Given the description of an element on the screen output the (x, y) to click on. 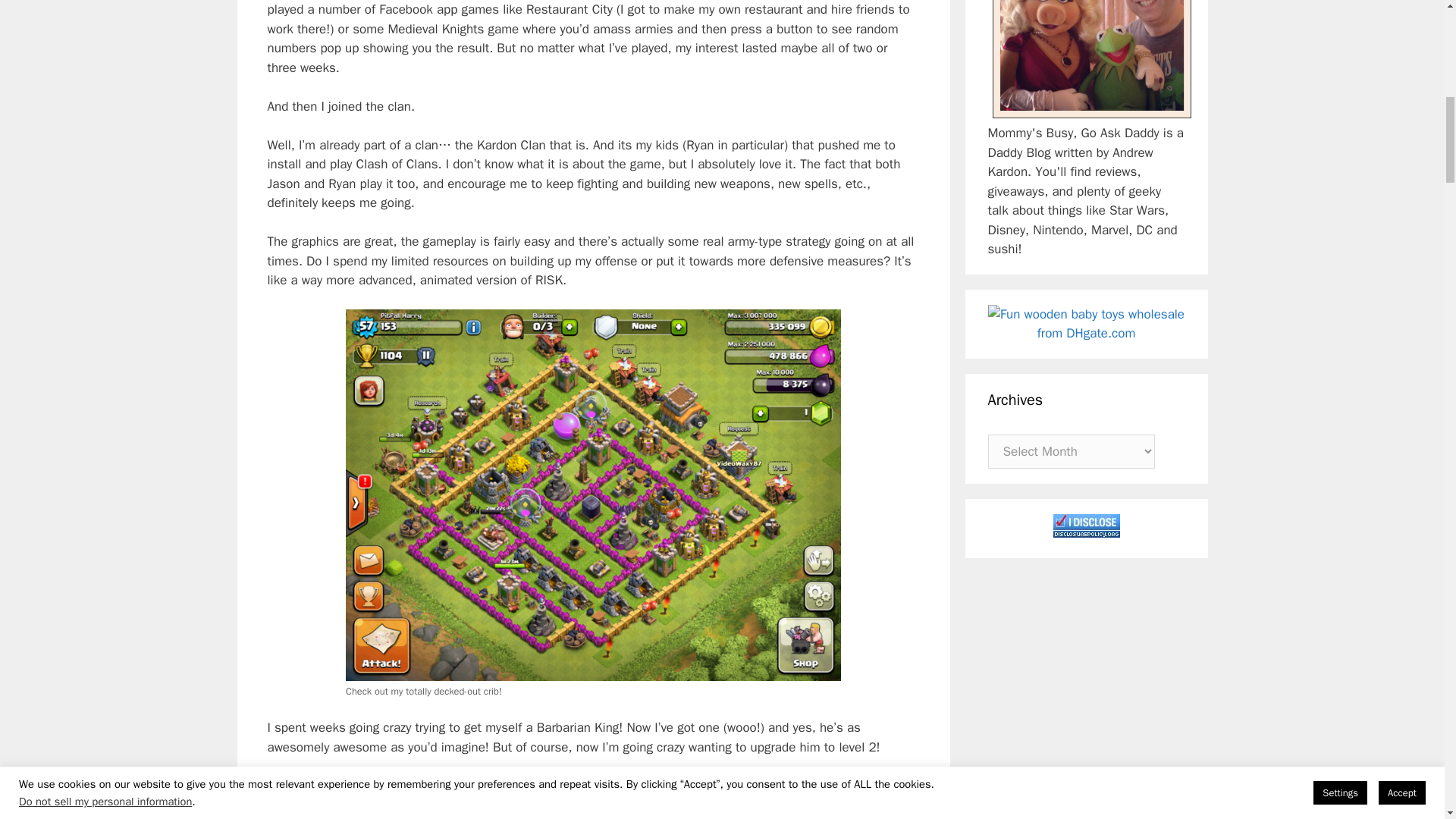
Fun wooden baby toys wholesale from DHgate.com (1086, 323)
Scroll back to top (1406, 720)
